Given the description of an element on the screen output the (x, y) to click on. 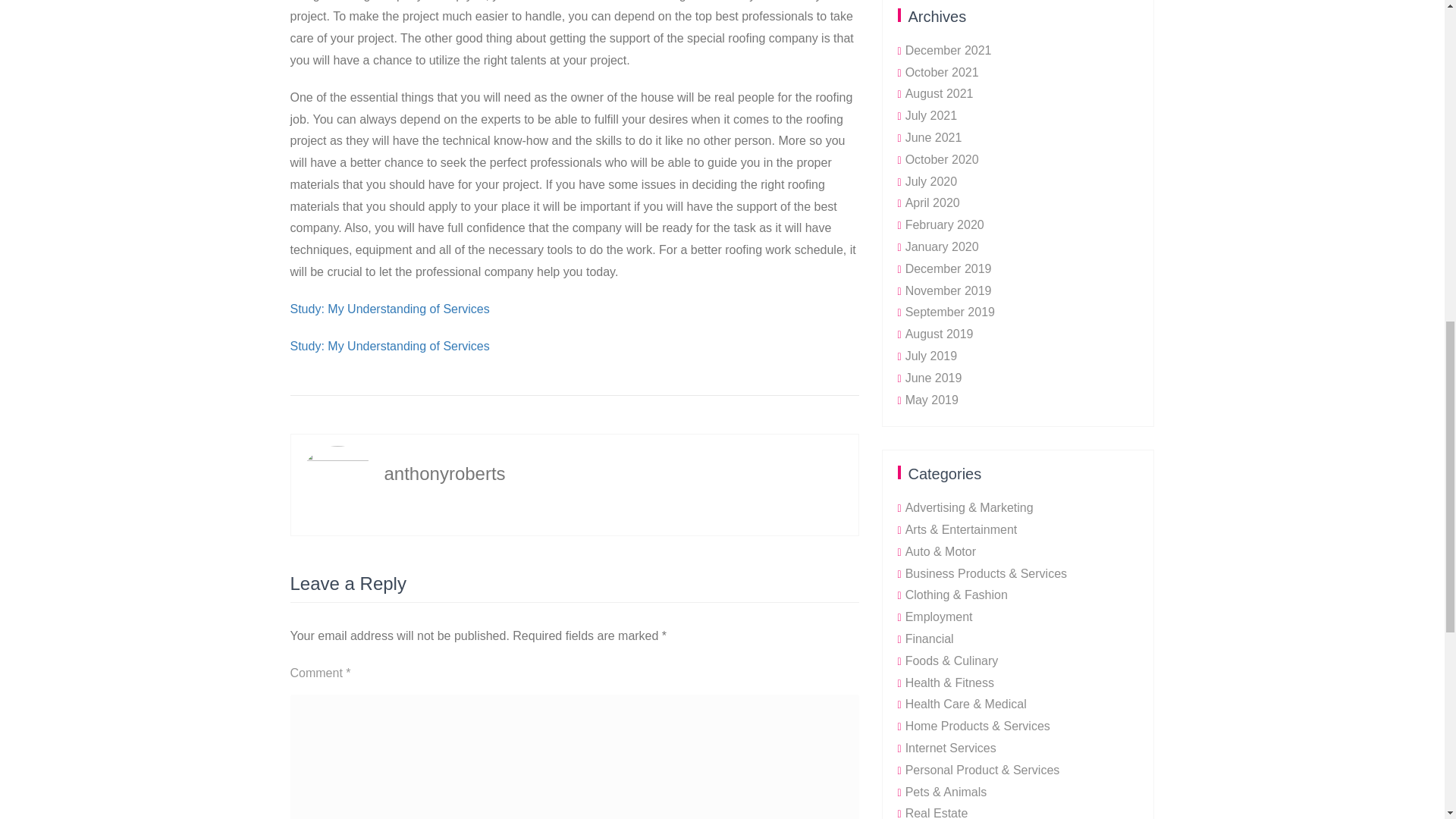
December 2021 (948, 50)
August 2021 (939, 92)
July 2020 (931, 181)
Study: My Understanding of Services (389, 309)
Study: My Understanding of Services (389, 346)
October 2021 (941, 72)
July 2021 (931, 115)
October 2020 (941, 159)
June 2021 (933, 137)
